Given the description of an element on the screen output the (x, y) to click on. 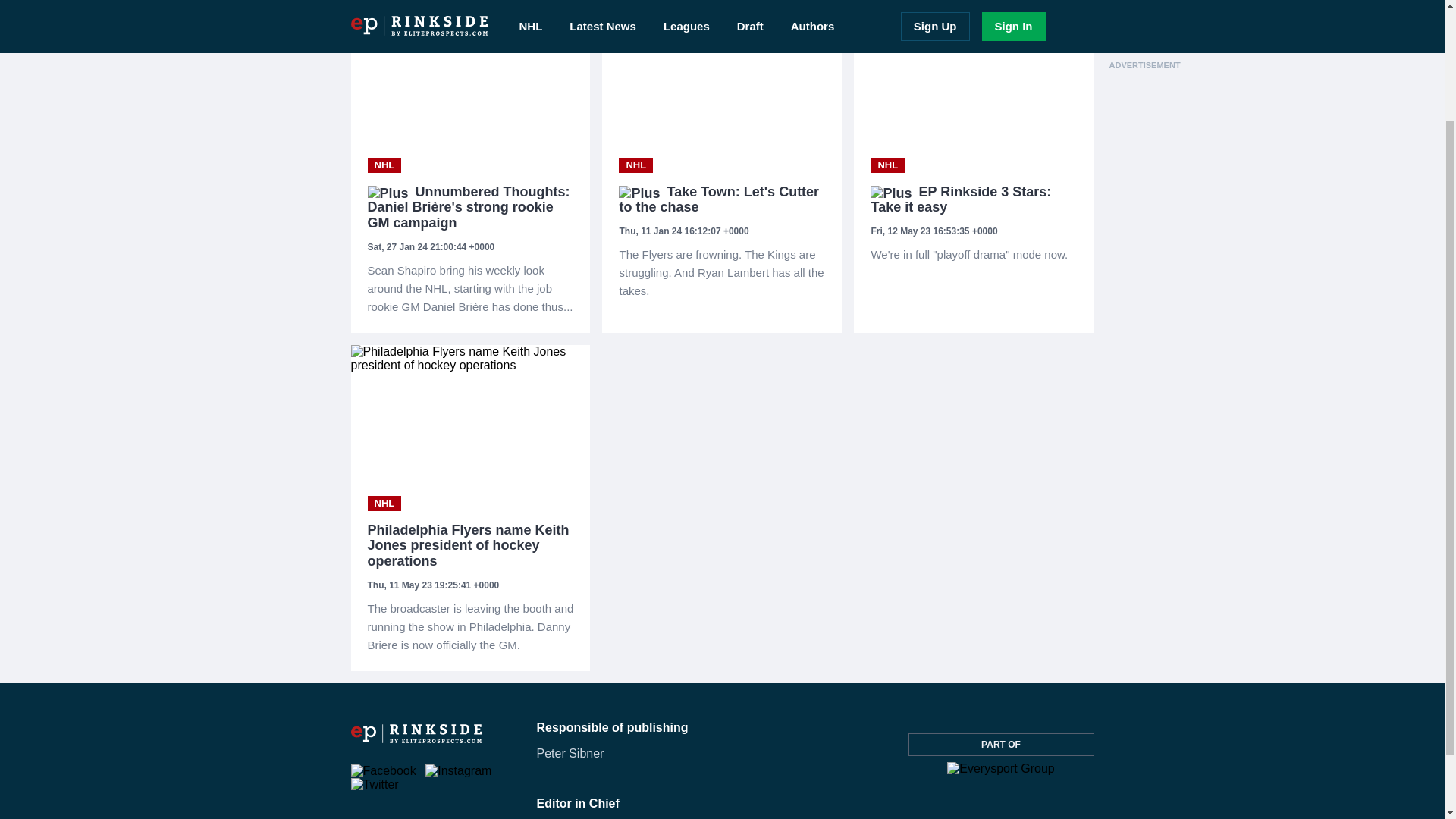
NHL (887, 165)
NHL (635, 165)
EP Rinkside 3 Stars: Take it easy (973, 199)
EP Rinkside 3 Stars: Take it easy (973, 254)
NHL (383, 503)
Take Town: Let's Cutter to the chase (721, 199)
eprinkside.com (415, 738)
